Given the description of an element on the screen output the (x, y) to click on. 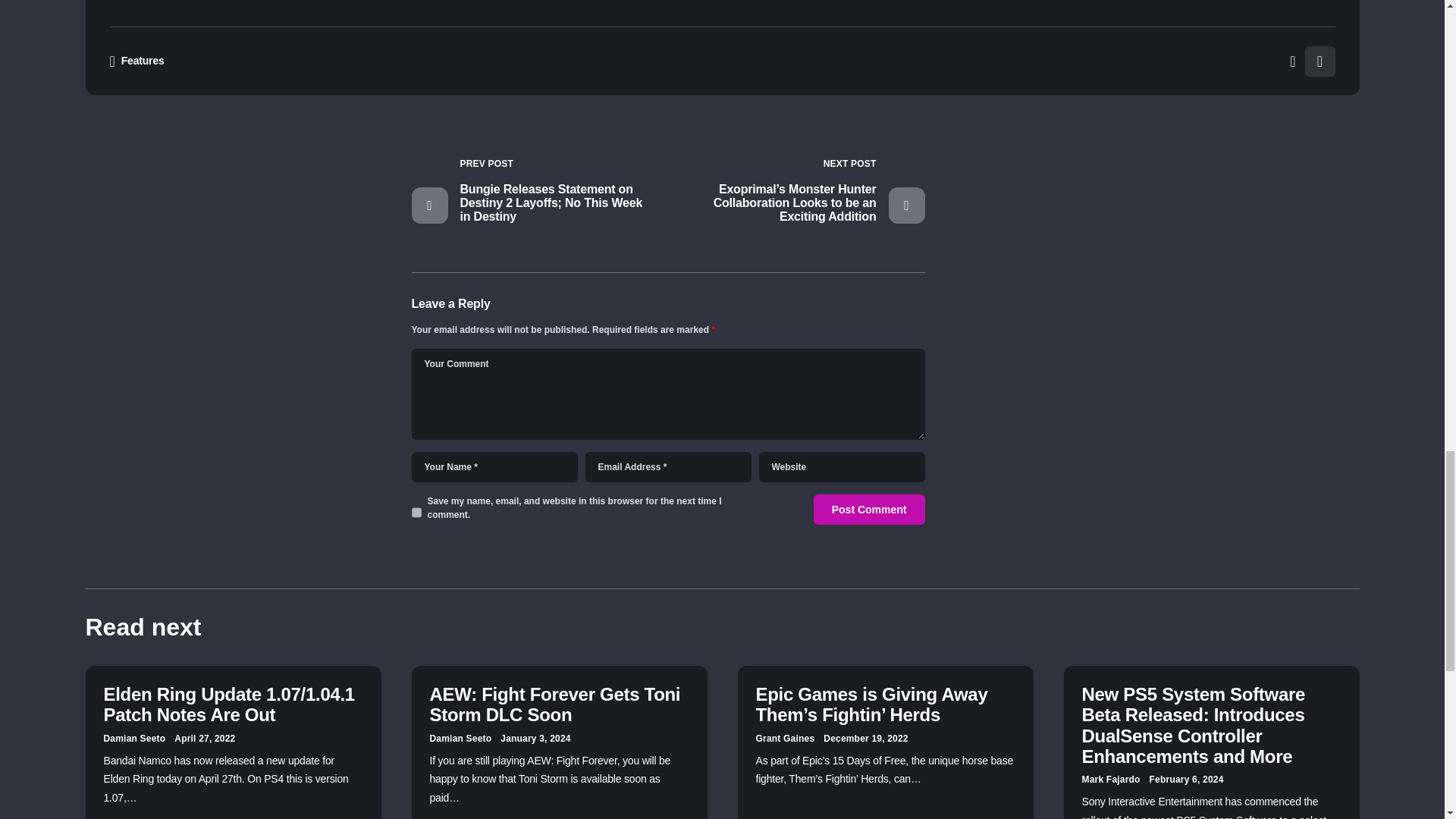
View all posts by Damian Seeto (134, 738)
View all posts by Grant Gaines (784, 738)
View all posts by Damian Seeto (460, 738)
Post Comment (868, 509)
View all posts by Mark Fajardo (1110, 779)
